Given the description of an element on the screen output the (x, y) to click on. 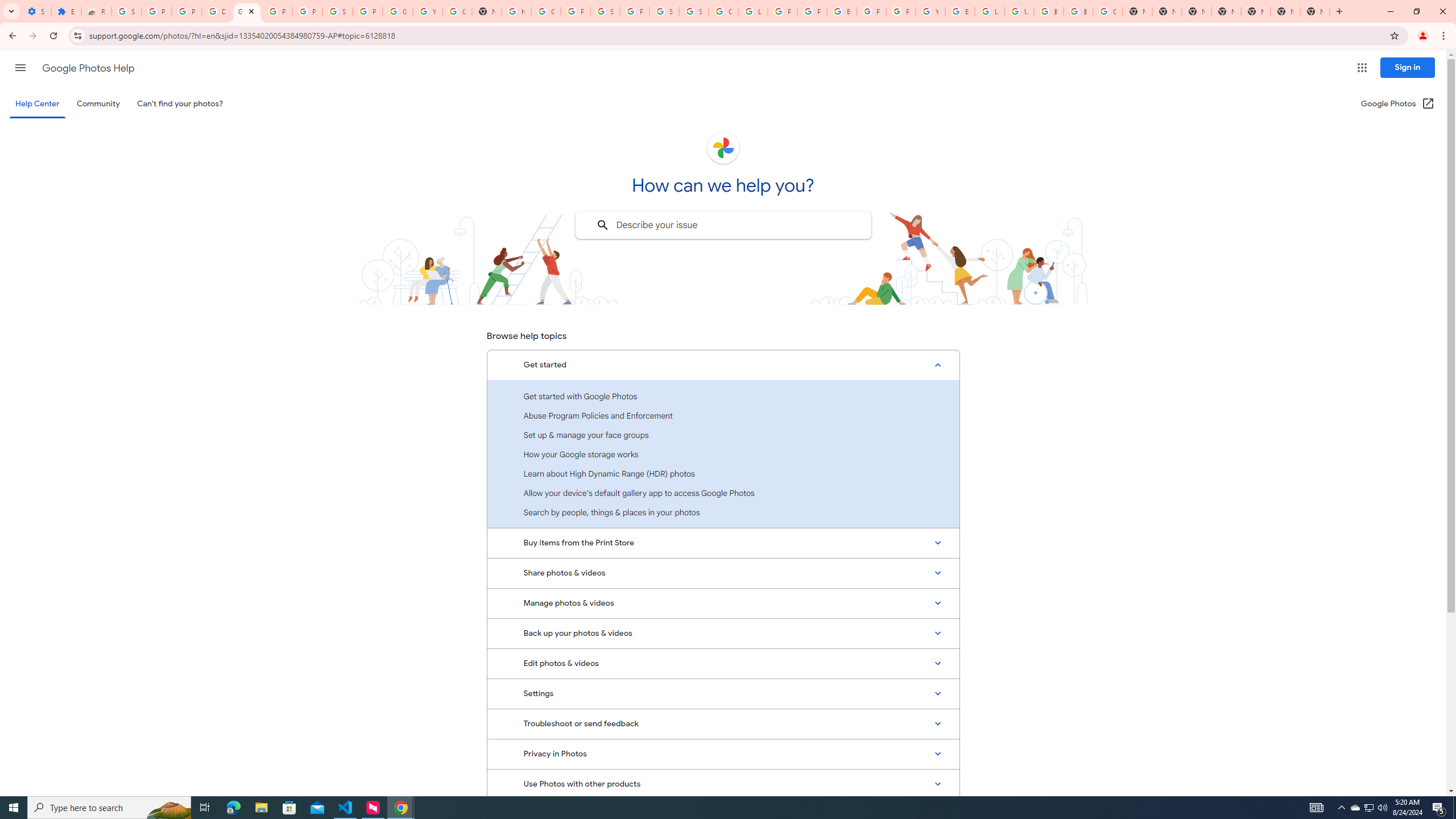
Get started with Google Photos (722, 396)
Buy items from the Print Store (722, 542)
Sign in - Google Accounts (126, 11)
Google Photos Help (247, 11)
Google Photos Help (87, 68)
Delete photos & videos - Computer - Google Photos Help (216, 11)
Edit photos & videos (722, 663)
Google Account (397, 11)
Set up & manage your face groups (722, 434)
Settings - On startup (36, 11)
